Given the description of an element on the screen output the (x, y) to click on. 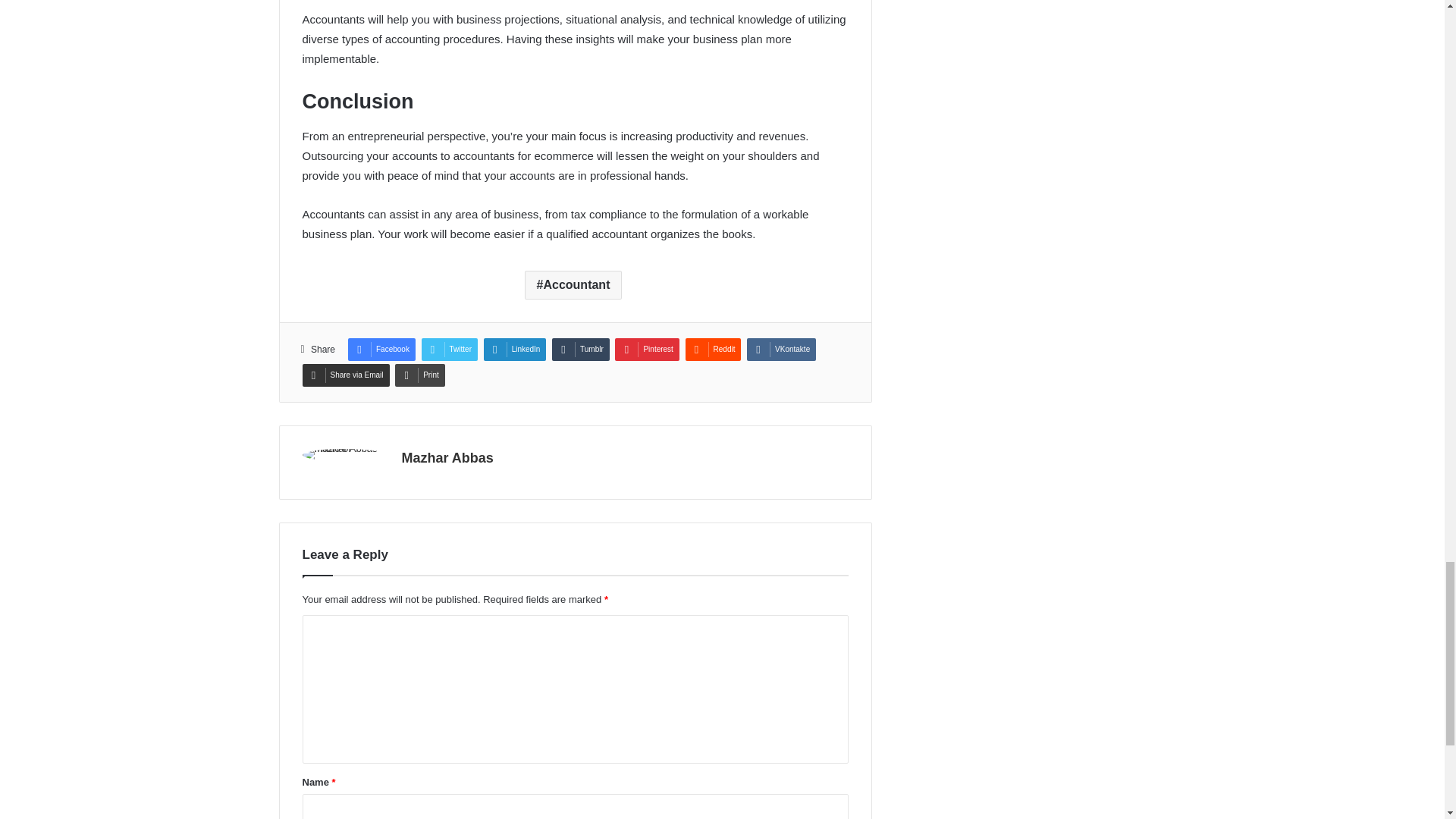
Accountant (573, 285)
